Given the description of an element on the screen output the (x, y) to click on. 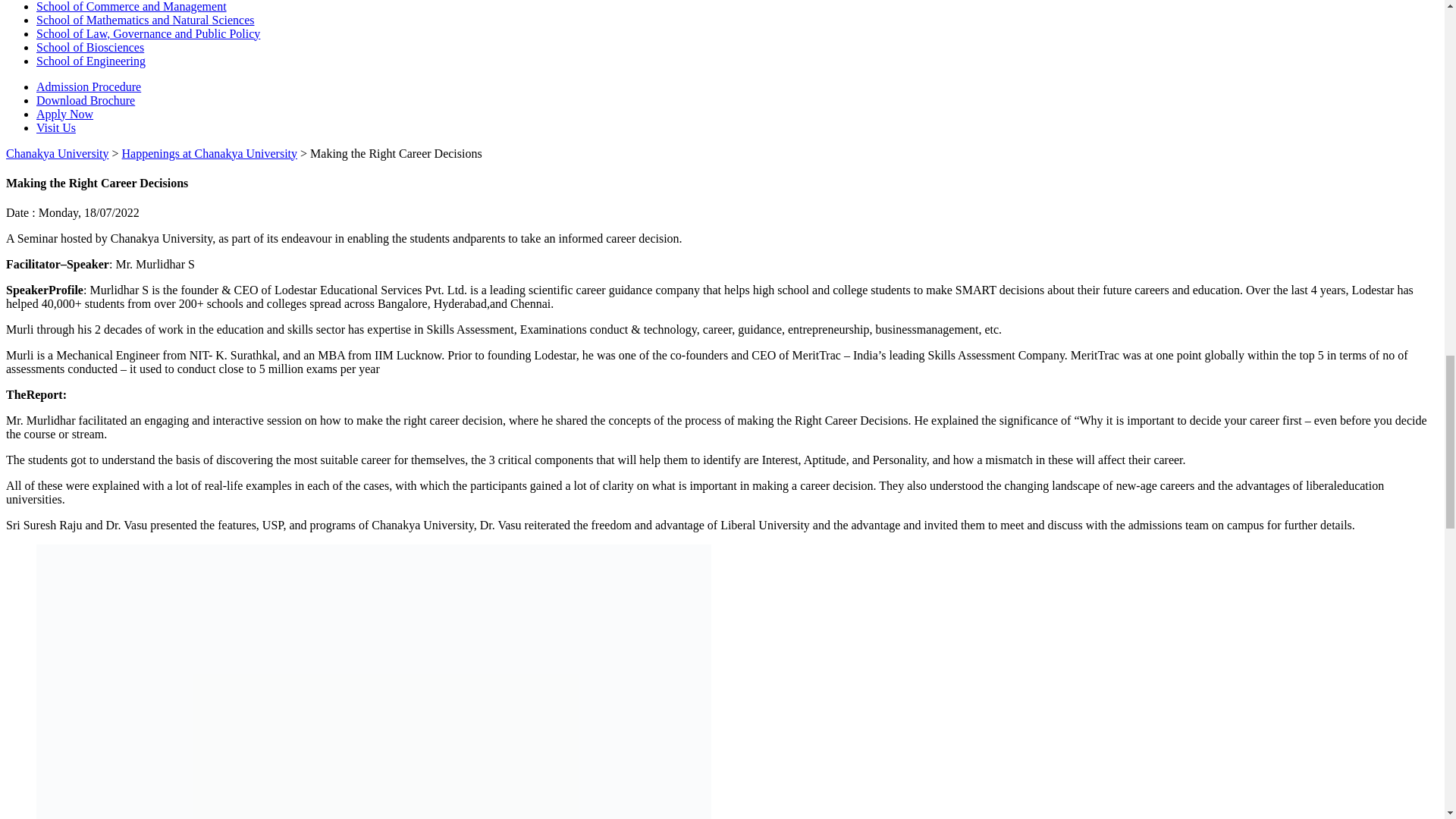
Go to Chanakya University. (57, 153)
School of Biosciences (90, 47)
School of Commerce and Management (131, 6)
School of Law, Governance and Public Policy (148, 33)
School of Engineering (90, 60)
School of Mathematics and Natural Sciences (144, 19)
